Given the description of an element on the screen output the (x, y) to click on. 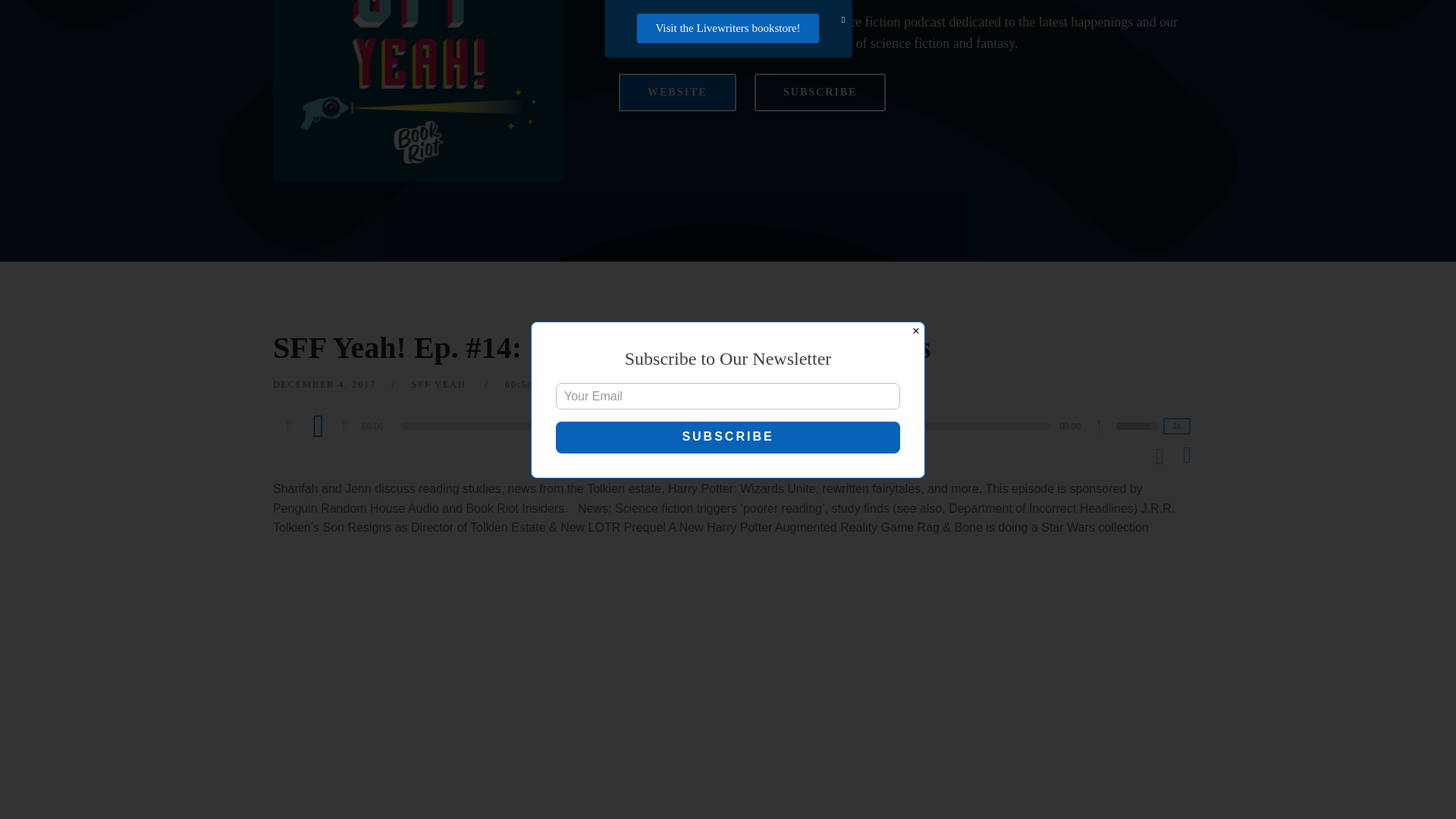
Mute (1104, 427)
Speed Rate (1177, 425)
SUBSCRIBE (819, 92)
Play (317, 425)
Subscribe (727, 147)
WEBSITE (677, 92)
